Given the description of an element on the screen output the (x, y) to click on. 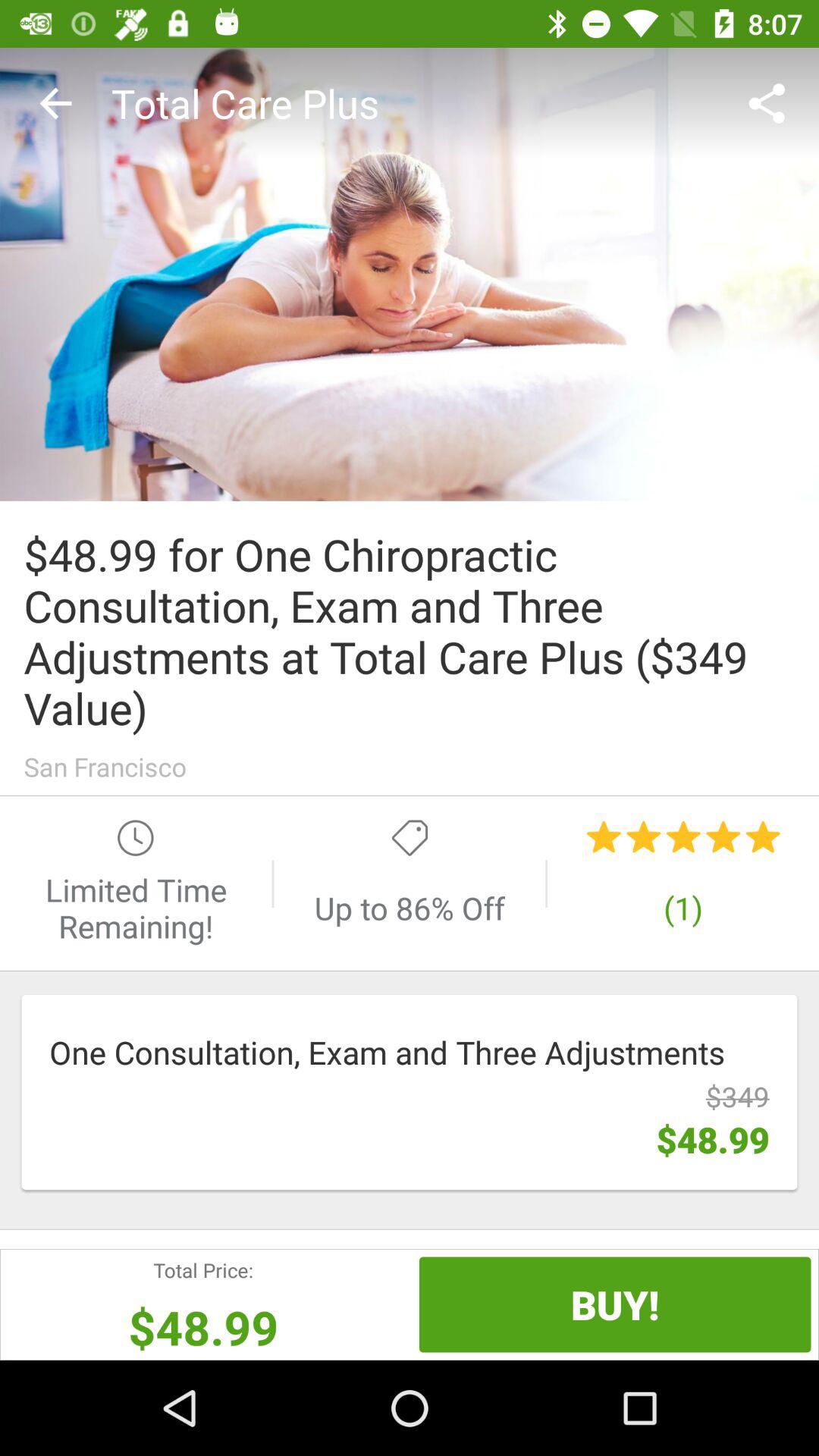
press item above 48 99 for (55, 103)
